Given the description of an element on the screen output the (x, y) to click on. 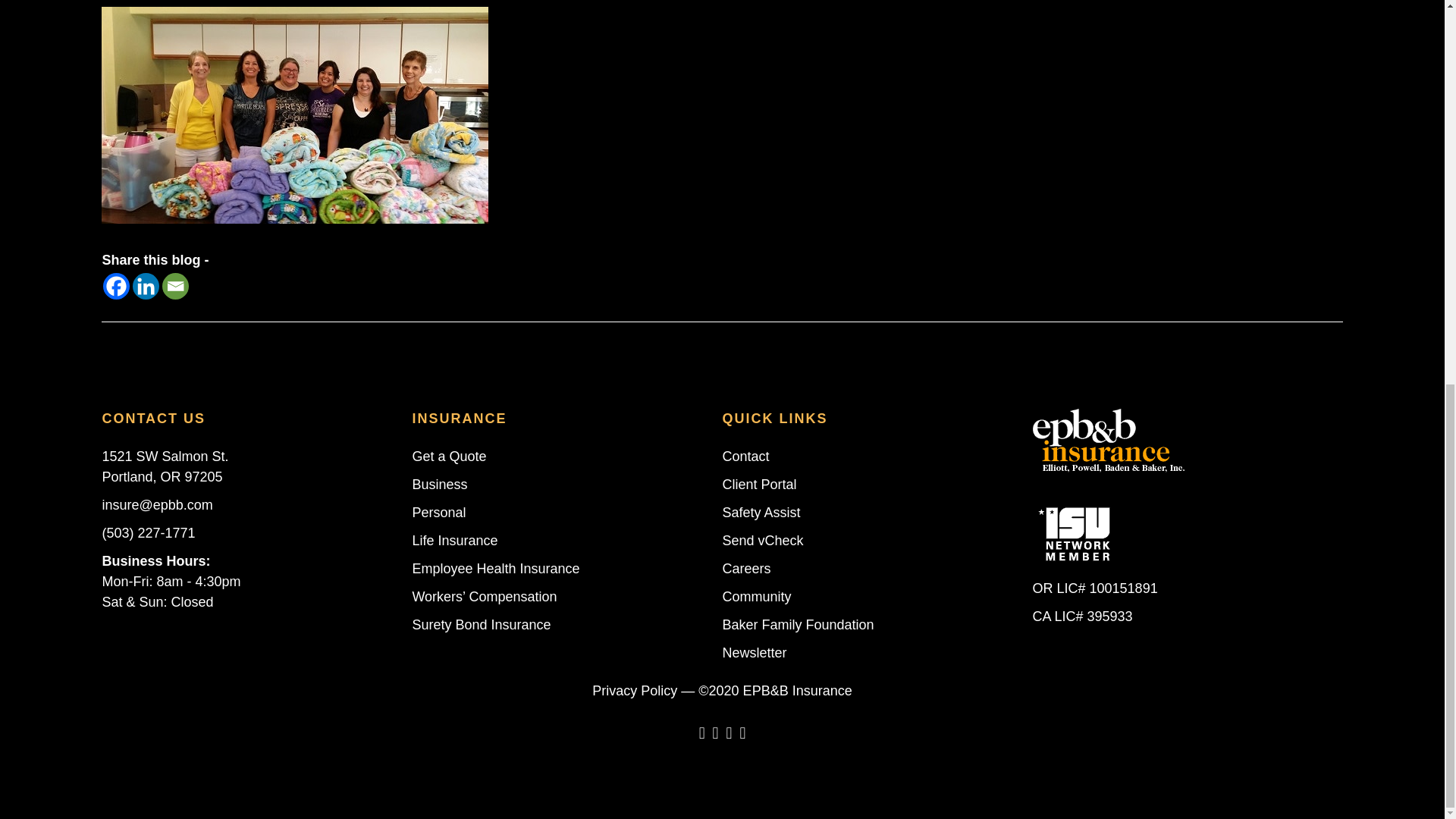
Facebook (116, 285)
Linkedin (145, 285)
Email (175, 285)
